Given the description of an element on the screen output the (x, y) to click on. 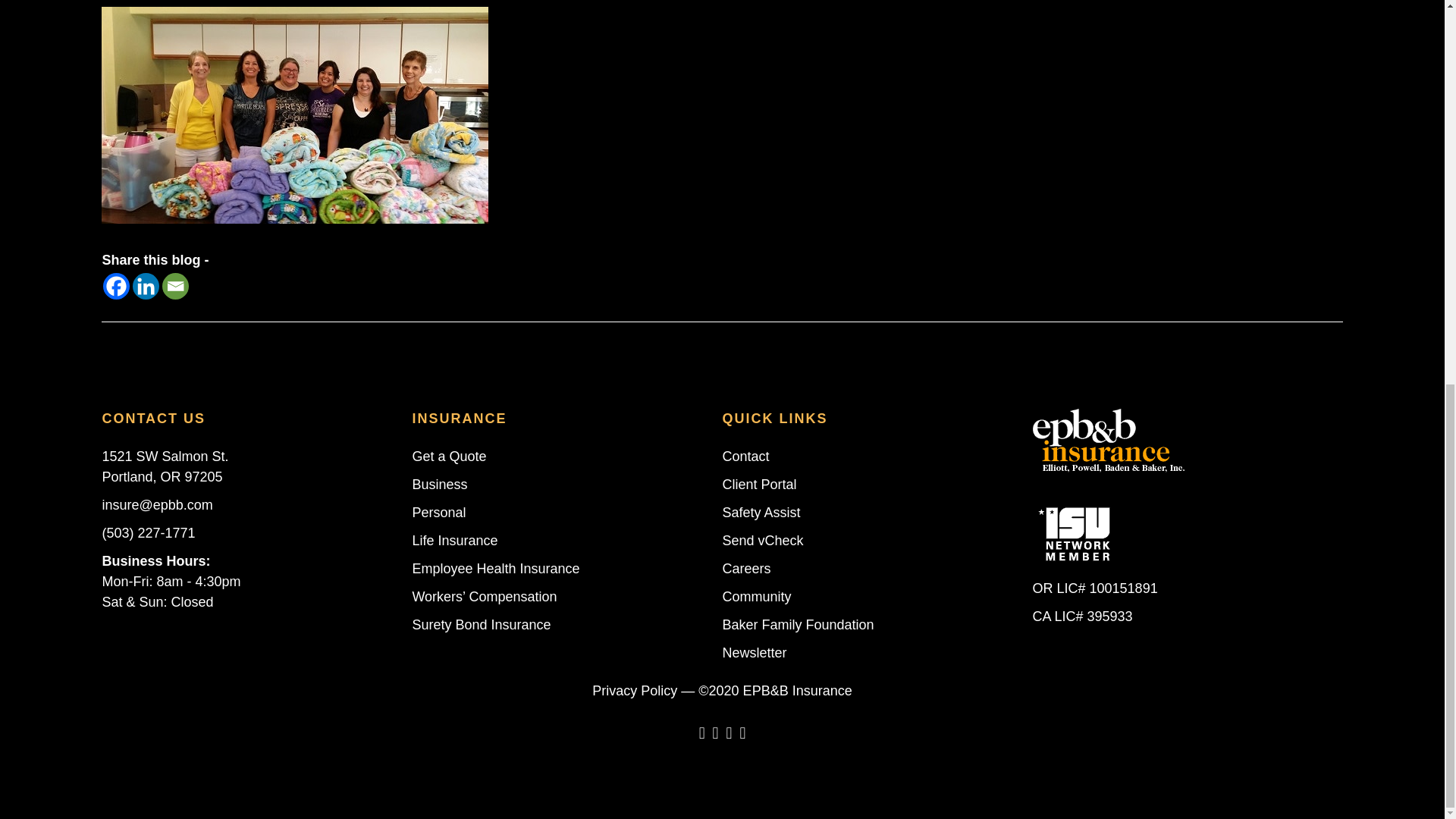
Facebook (116, 285)
Linkedin (145, 285)
Email (175, 285)
